Given the description of an element on the screen output the (x, y) to click on. 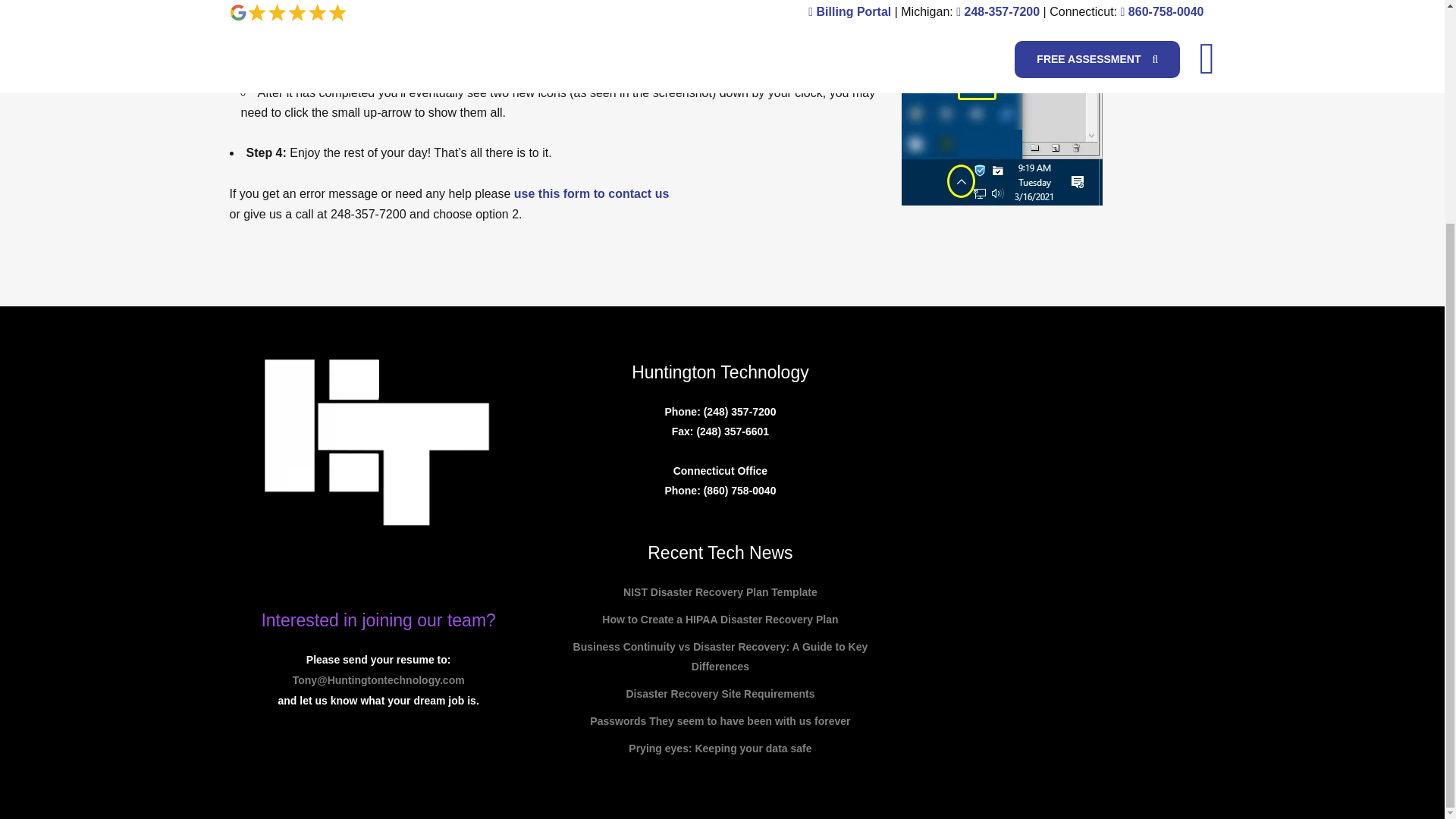
use this form to contact us (590, 193)
Download for PC (301, 1)
Passwords They seem to have been with us forever (719, 721)
NIST Disaster Recovery Plan Template (719, 591)
Disaster Recovery Site Requirements (719, 693)
Prying eyes: Keeping your data safe (719, 748)
How to Create a HIPAA Disaster Recovery Plan (719, 619)
